Given the description of an element on the screen output the (x, y) to click on. 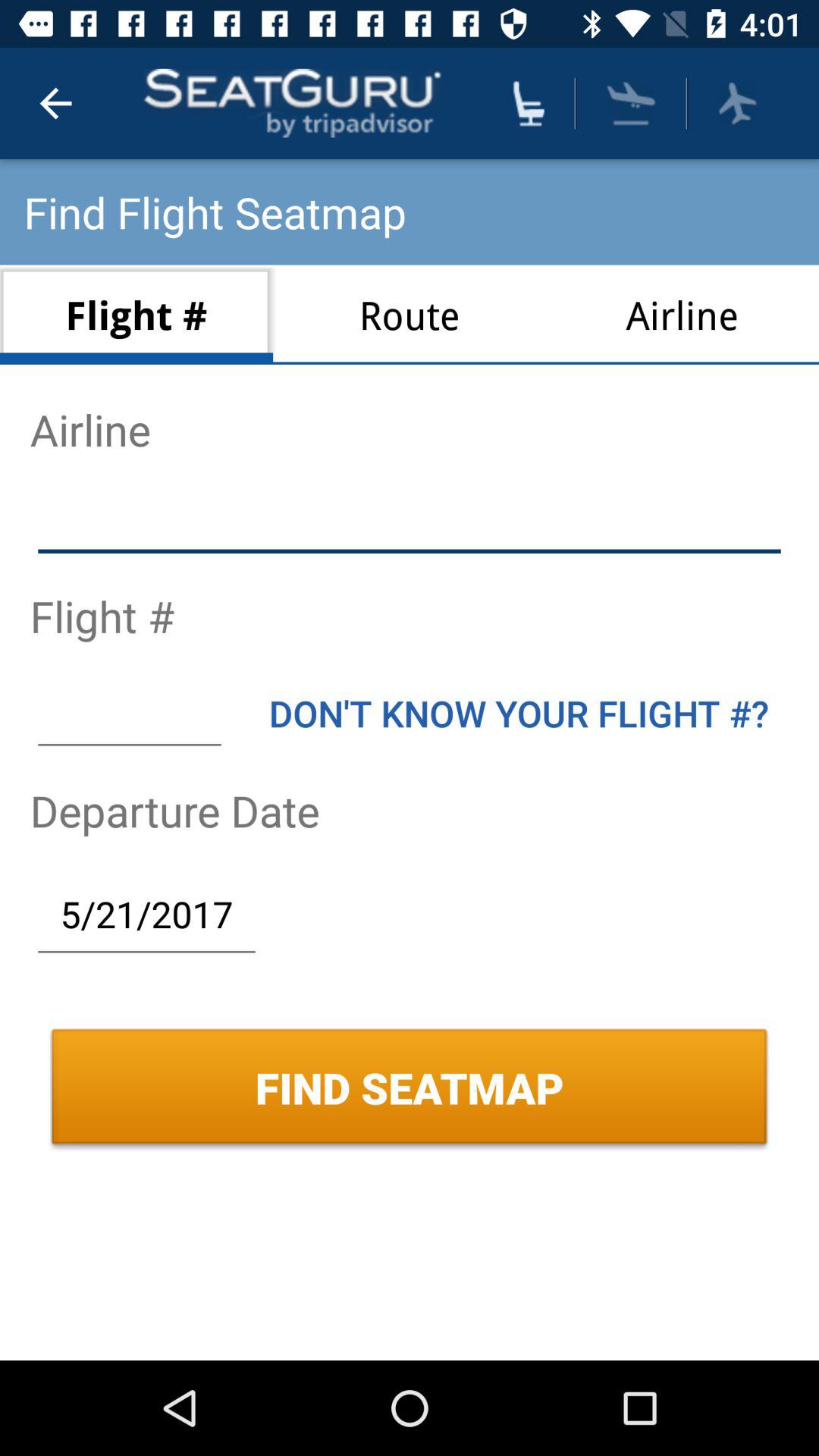
tap icon to the left of airline item (409, 314)
